Given the description of an element on the screen output the (x, y) to click on. 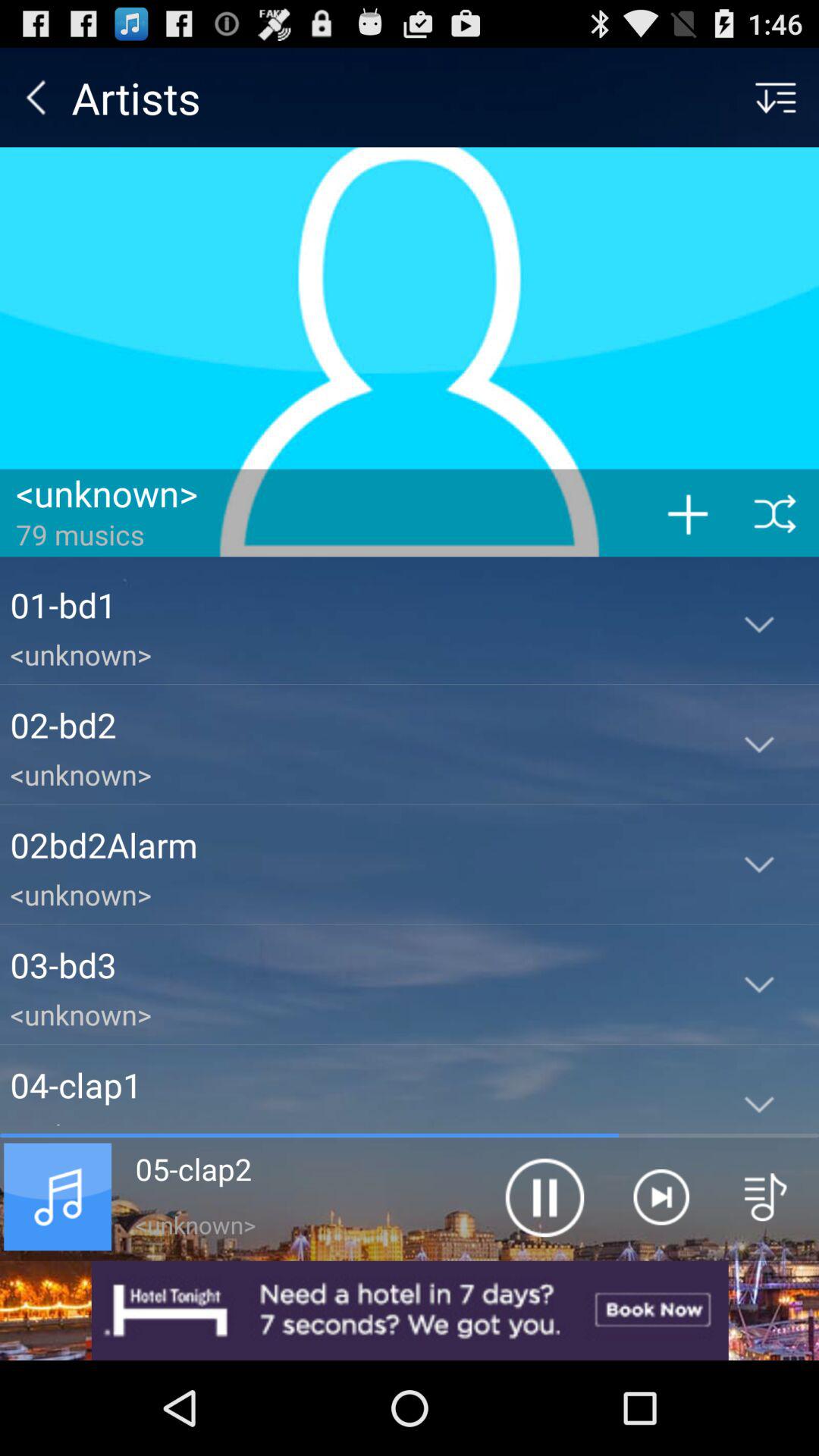
launch the icon above the <unknown> item (354, 604)
